Given the description of an element on the screen output the (x, y) to click on. 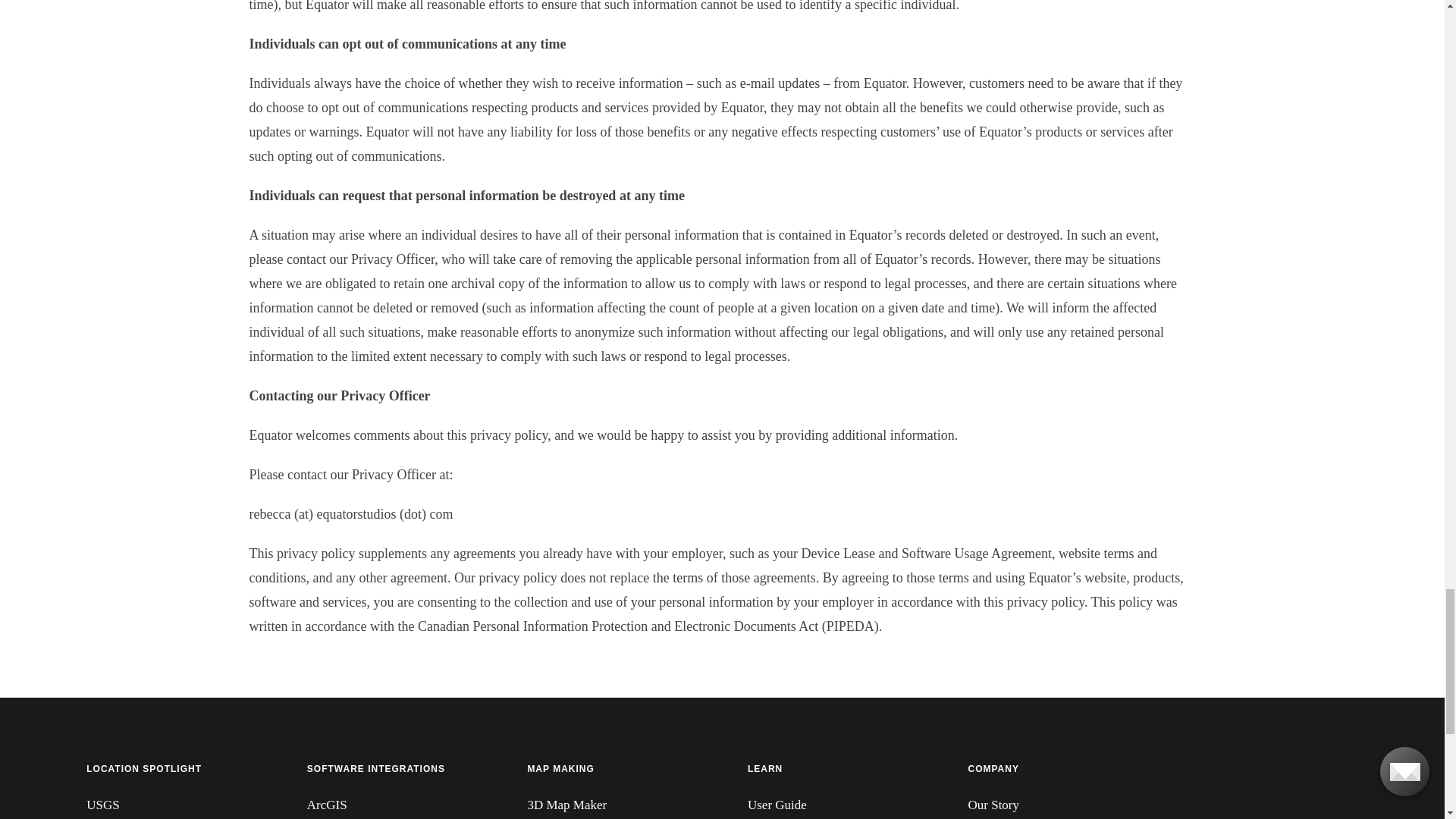
ArcGIS (392, 806)
3D Map Maker (612, 806)
USGS (170, 806)
